Given the description of an element on the screen output the (x, y) to click on. 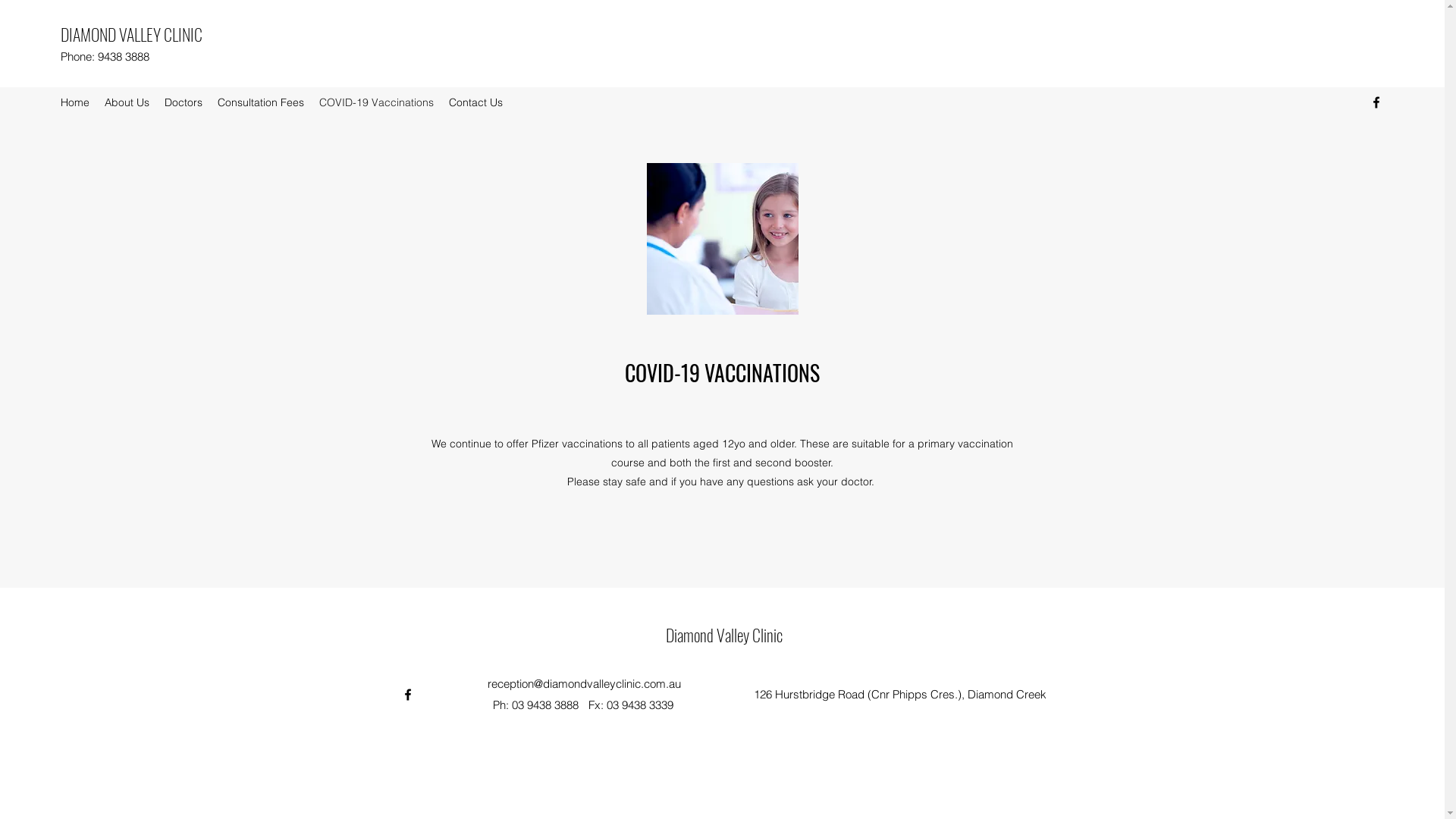
Contact Us Element type: text (475, 102)
Home Element type: text (75, 102)
Diamond Valley Clinic Element type: text (723, 634)
Consultation Fees Element type: text (260, 102)
COVID-19 Vaccinations Element type: text (376, 102)
Doctors Element type: text (183, 102)
DIAMOND VALLEY CLINIC Element type: text (131, 33)
About Us Element type: text (126, 102)
reception@diamondvalleyclinic.com.au Element type: text (583, 683)
